Given the description of an element on the screen output the (x, y) to click on. 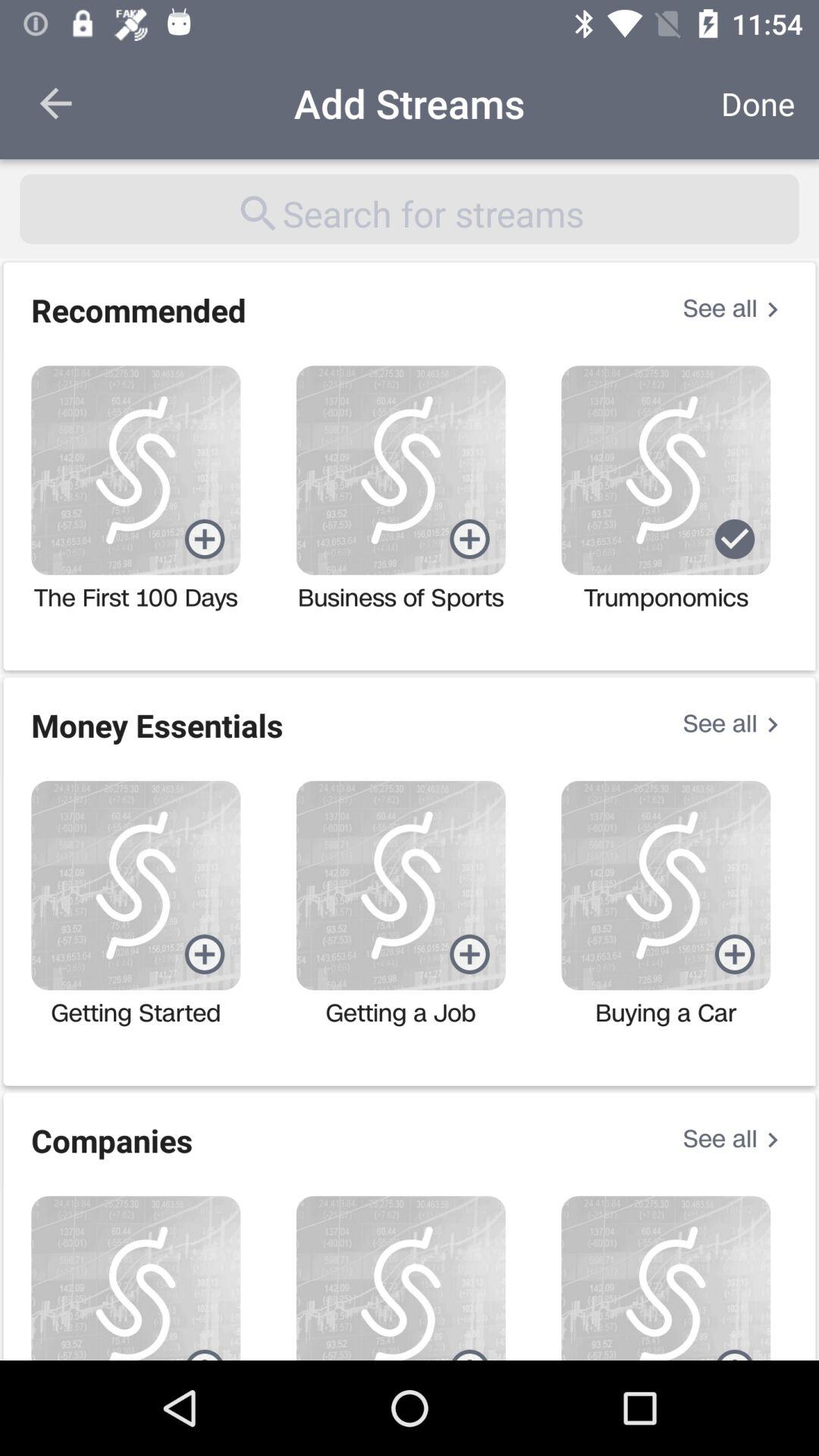
search items (409, 208)
